Given the description of an element on the screen output the (x, y) to click on. 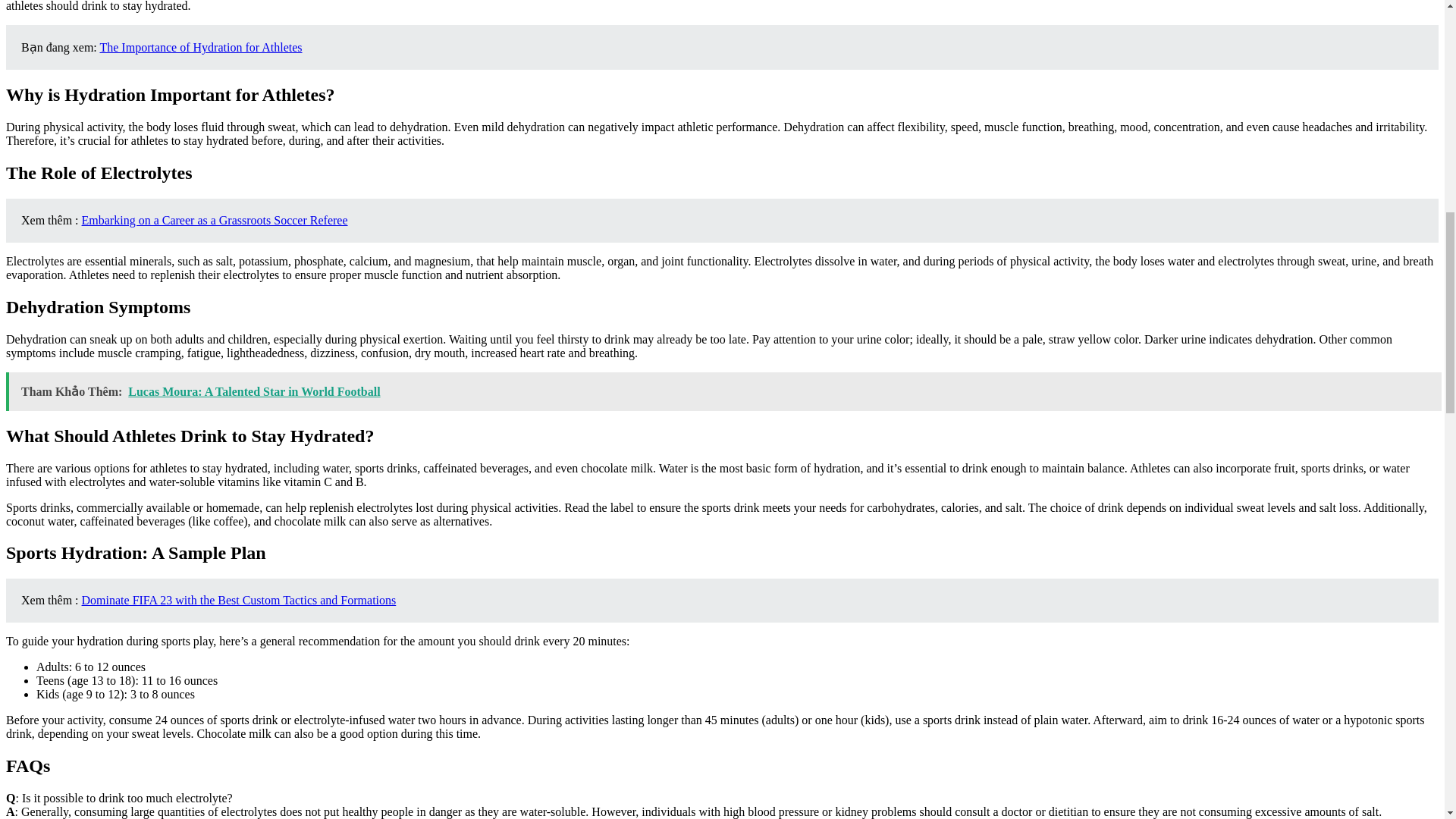
Dominate FIFA 23 with the Best Custom Tactics and Formations (238, 599)
Embarking on a Career as a Grassroots Soccer Referee (214, 219)
The Importance of Hydration for Athletes (200, 47)
